Given the description of an element on the screen output the (x, y) to click on. 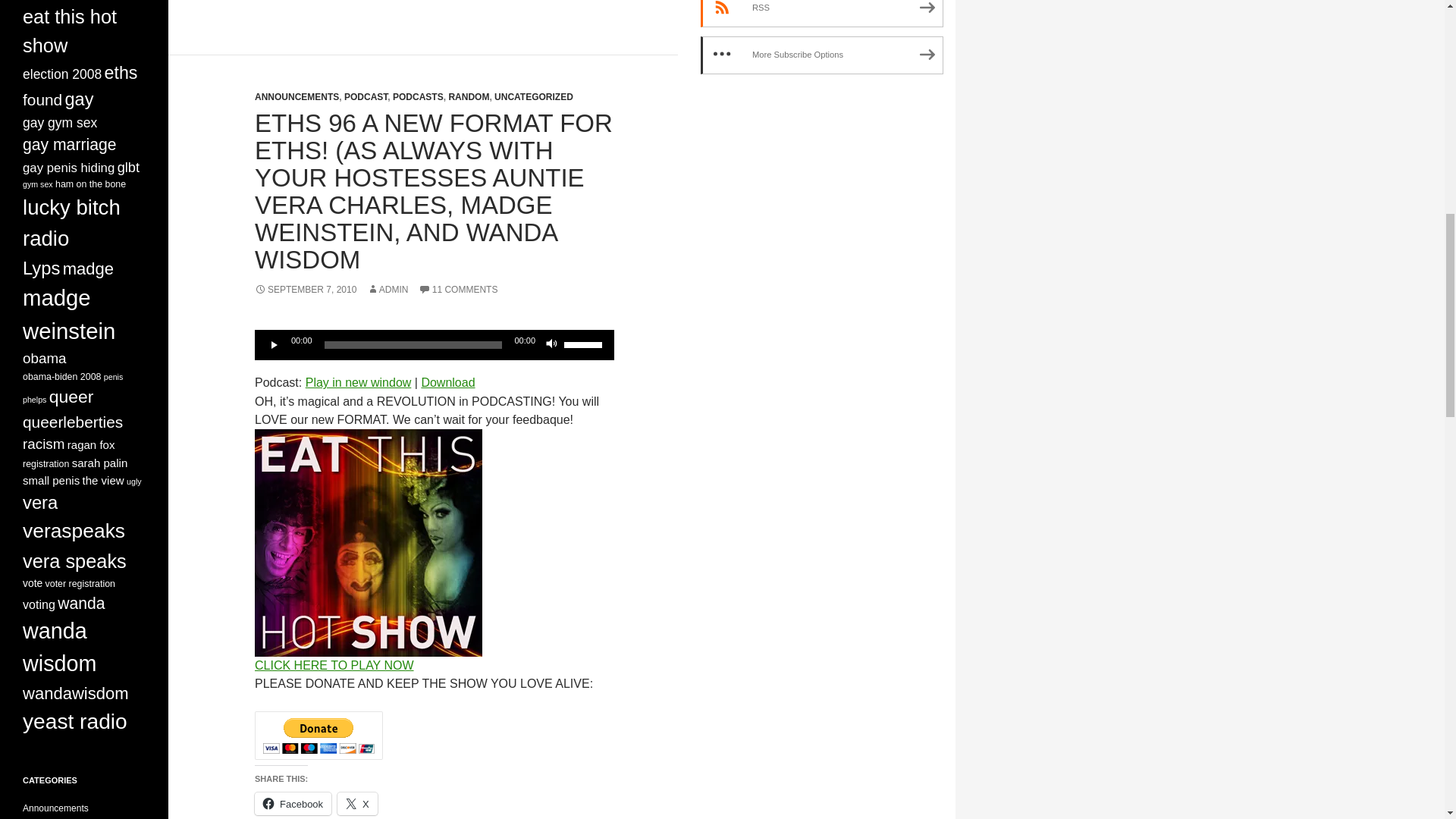
Click to share on X (357, 803)
ADMIN (387, 289)
X (357, 803)
Play in new window (358, 382)
RANDOM (468, 96)
Download (447, 382)
UNCATEGORIZED (534, 96)
PODCAST (365, 96)
Click to share on Facebook (292, 803)
ANNOUNCEMENTS (296, 96)
Play (274, 344)
Facebook (292, 803)
Mute (551, 344)
eat this hot show ragan fox bb12 discussion  (367, 542)
Download (447, 382)
